Given the description of an element on the screen output the (x, y) to click on. 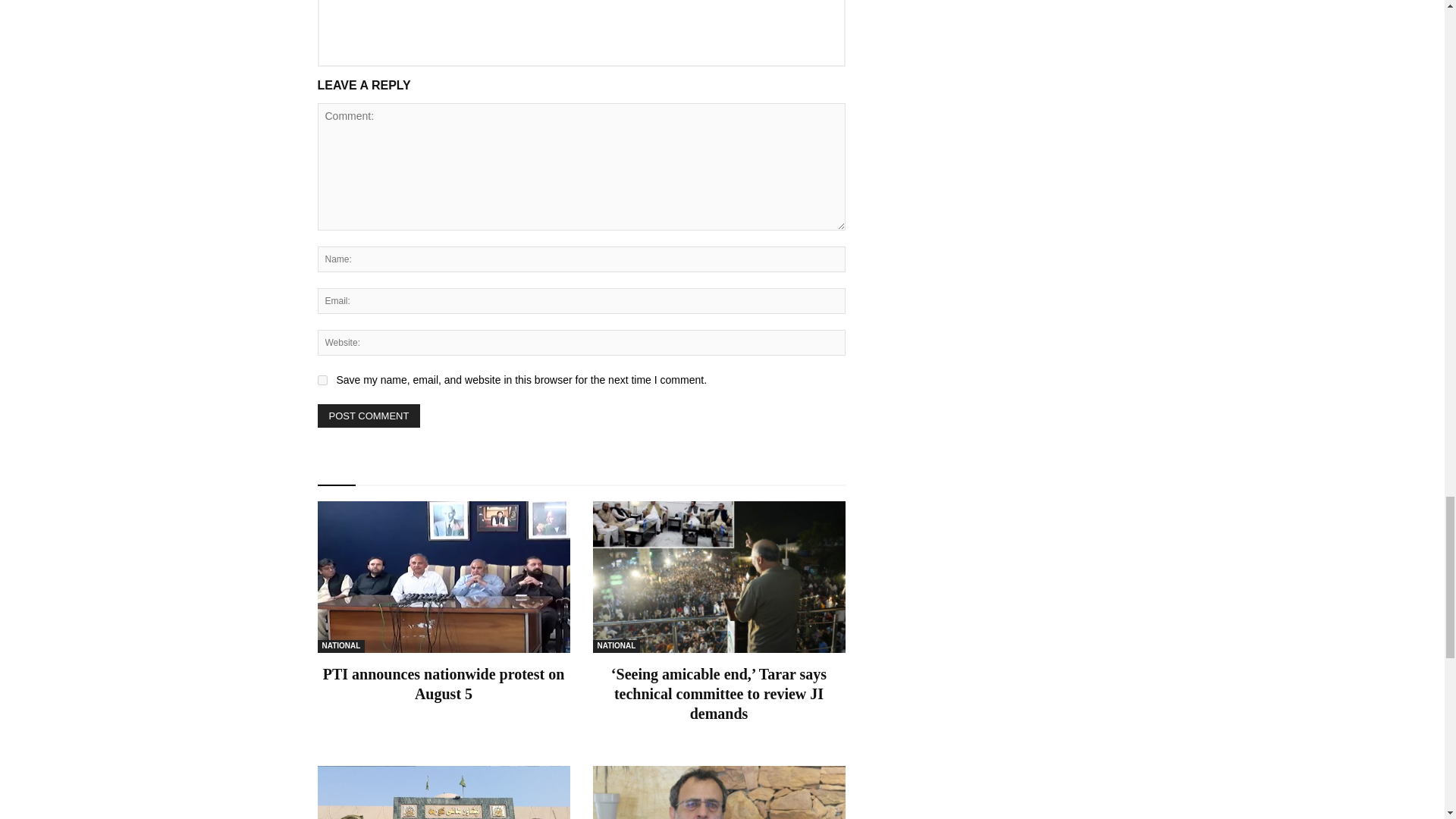
Post Comment (368, 415)
yes (321, 379)
